Given the description of an element on the screen output the (x, y) to click on. 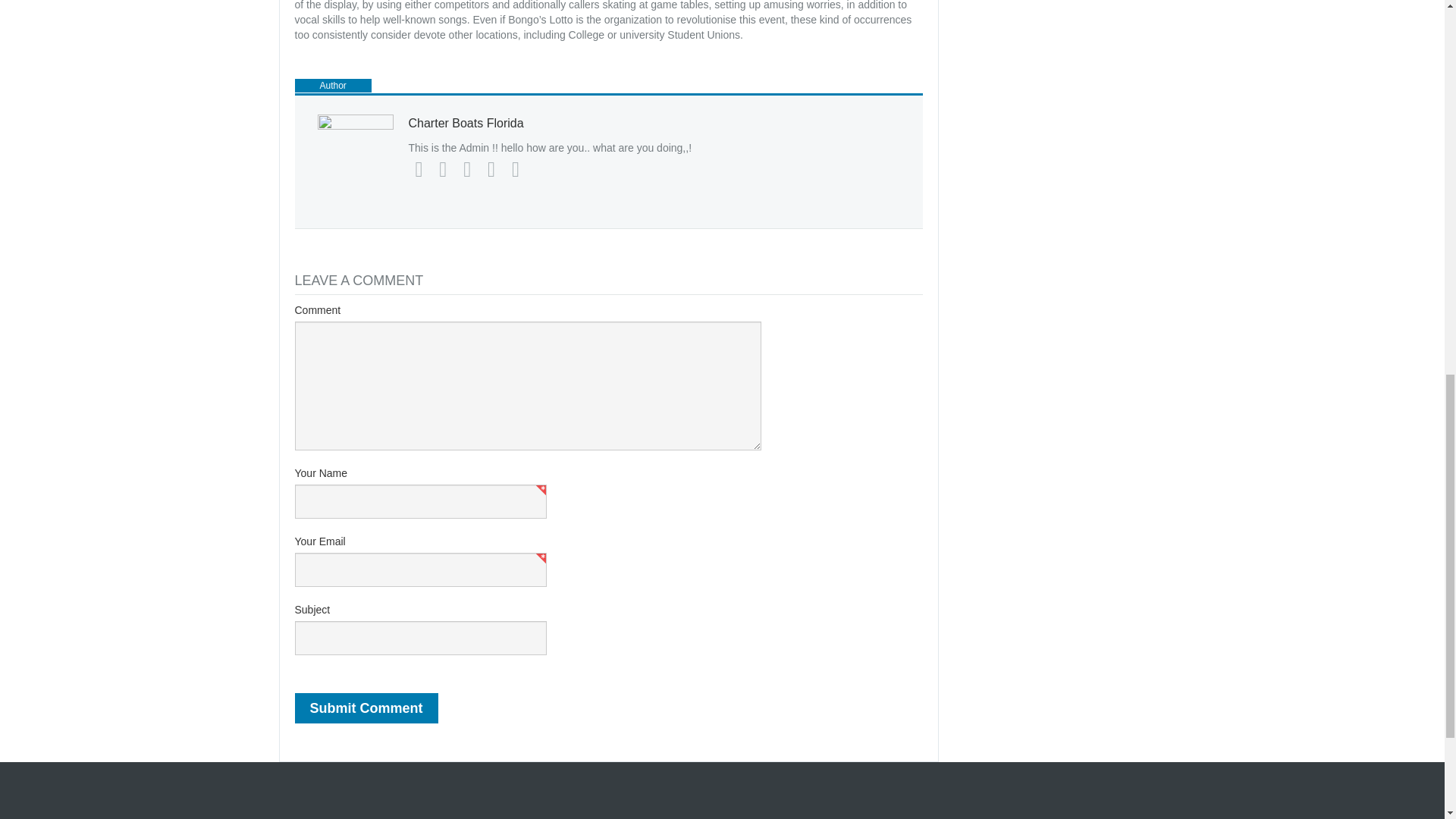
Submit Comment (366, 707)
Submit Comment (366, 707)
